Given the description of an element on the screen output the (x, y) to click on. 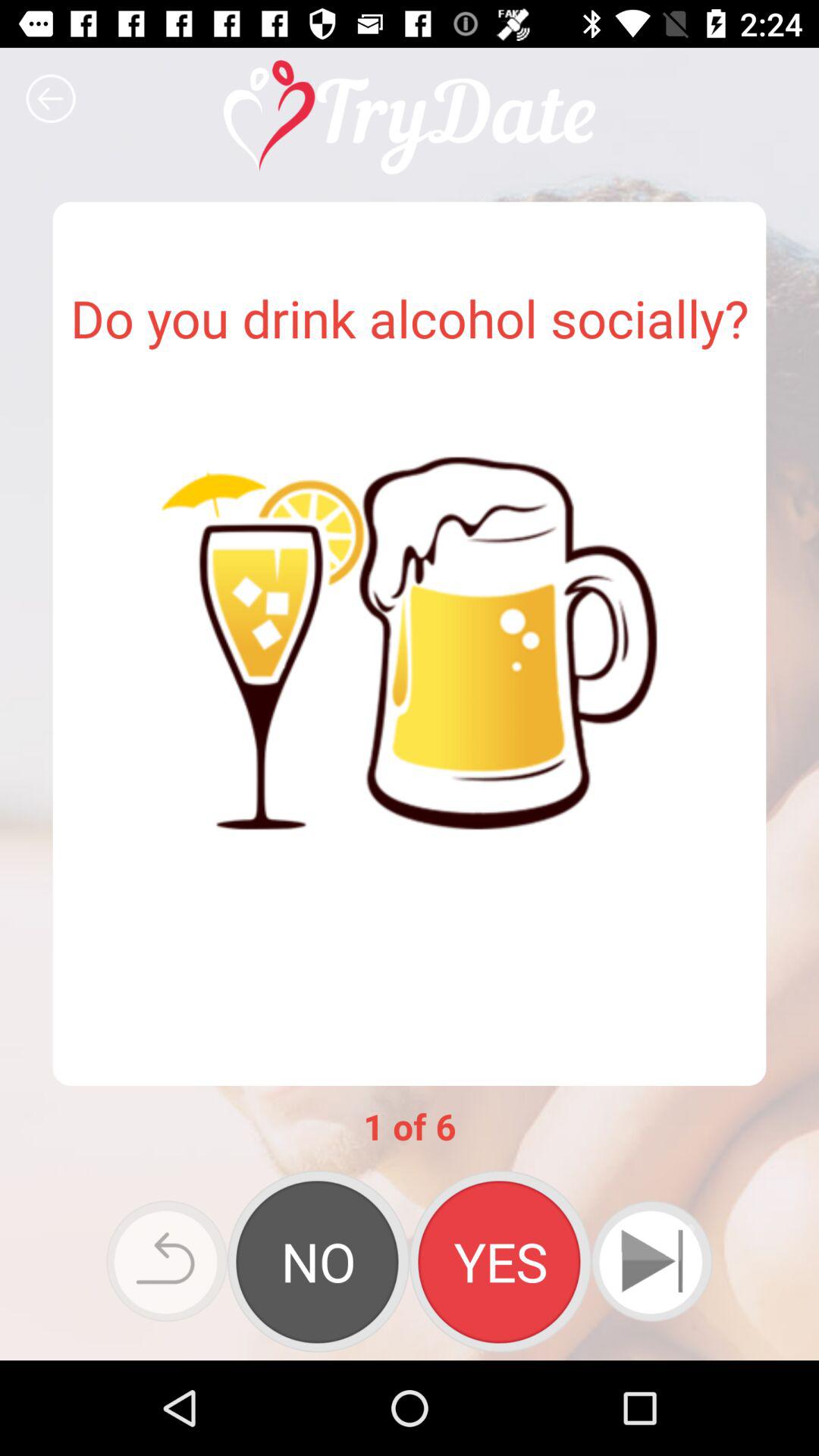
no (318, 1261)
